Given the description of an element on the screen output the (x, y) to click on. 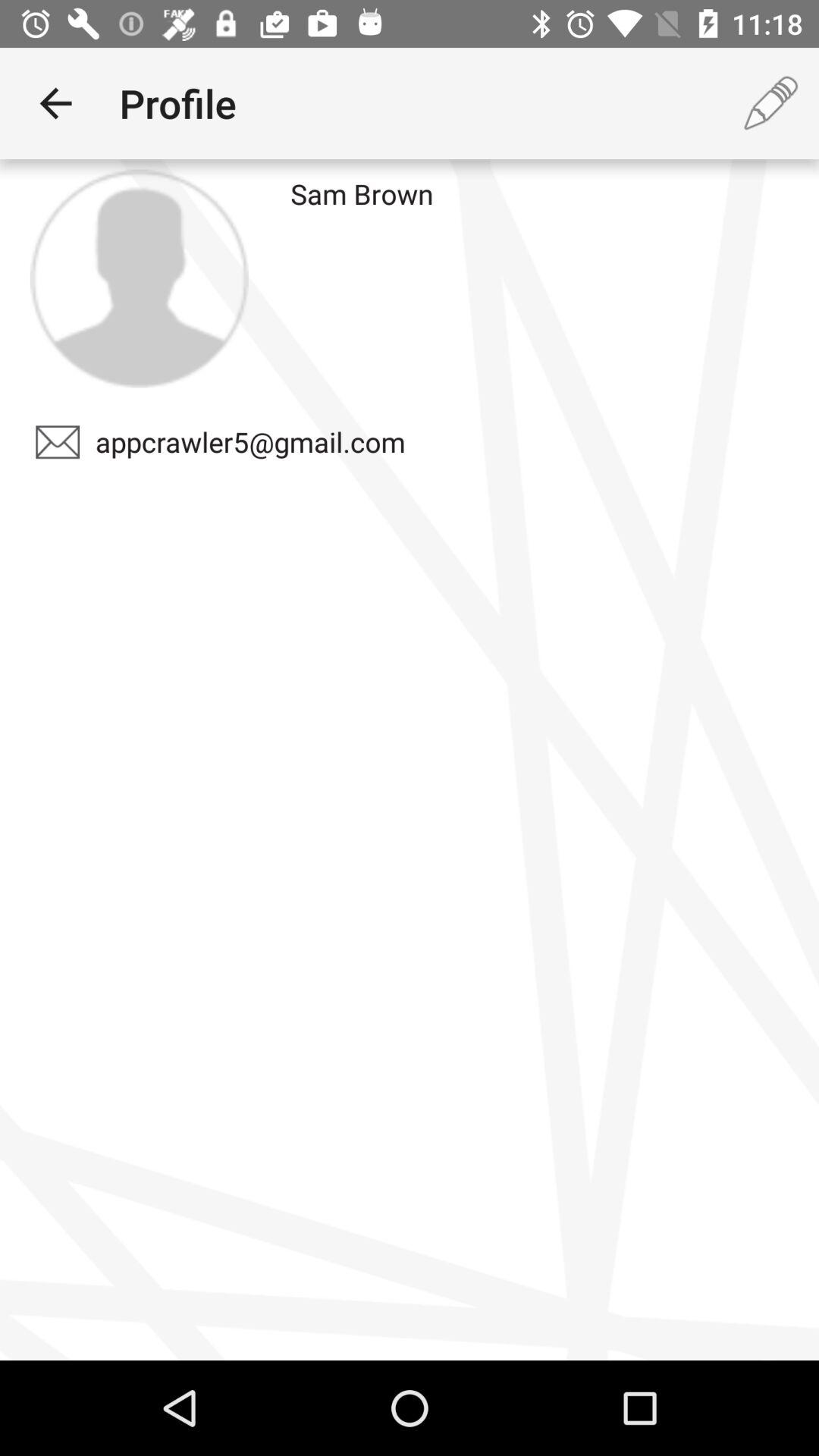
launch item at the top right corner (771, 103)
